Given the description of an element on the screen output the (x, y) to click on. 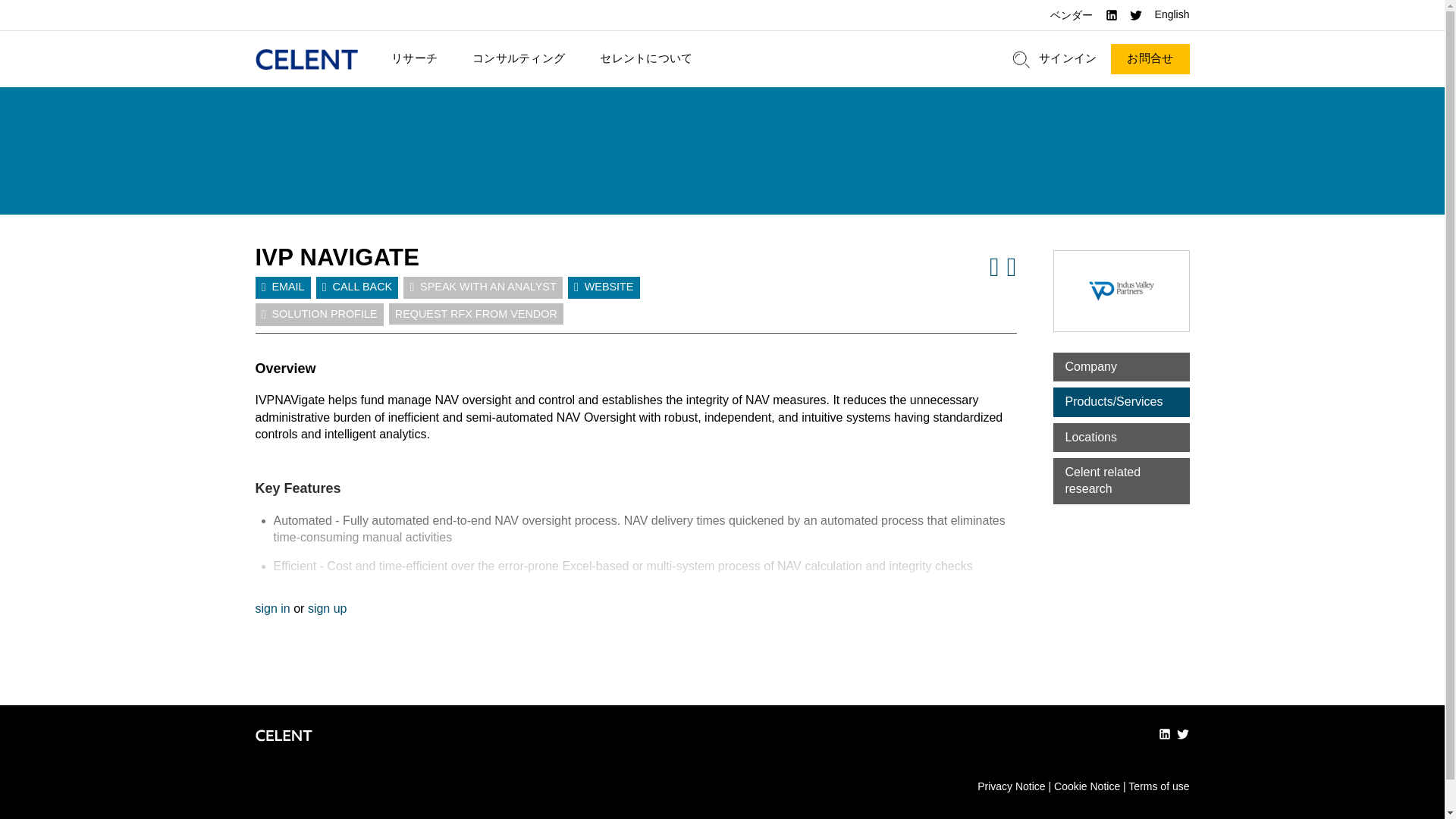
search (1020, 58)
Company (1120, 366)
Home (306, 59)
English (1171, 14)
